Given the description of an element on the screen output the (x, y) to click on. 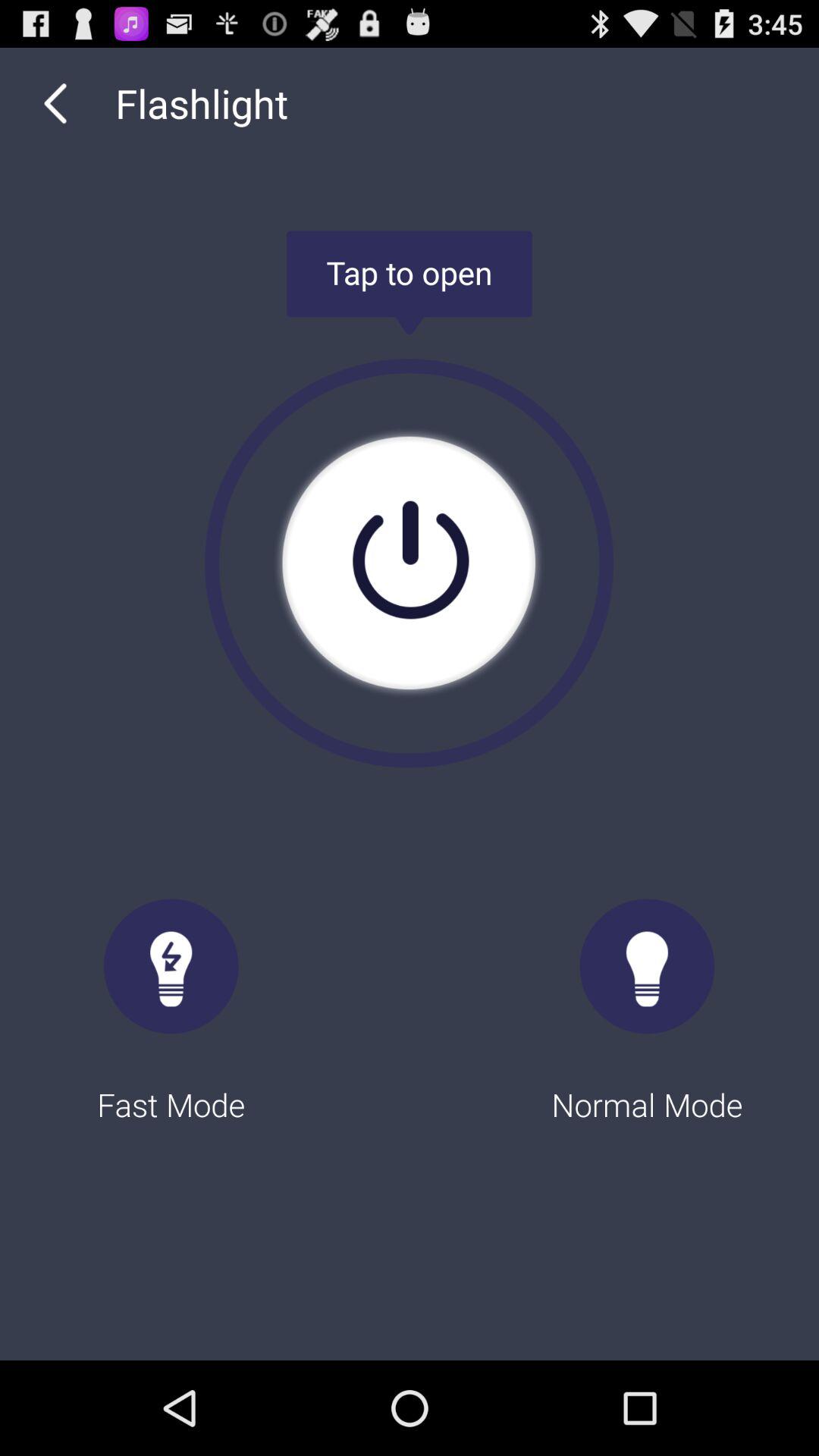
choose the icon to the left of the flashlight item (55, 103)
